Given the description of an element on the screen output the (x, y) to click on. 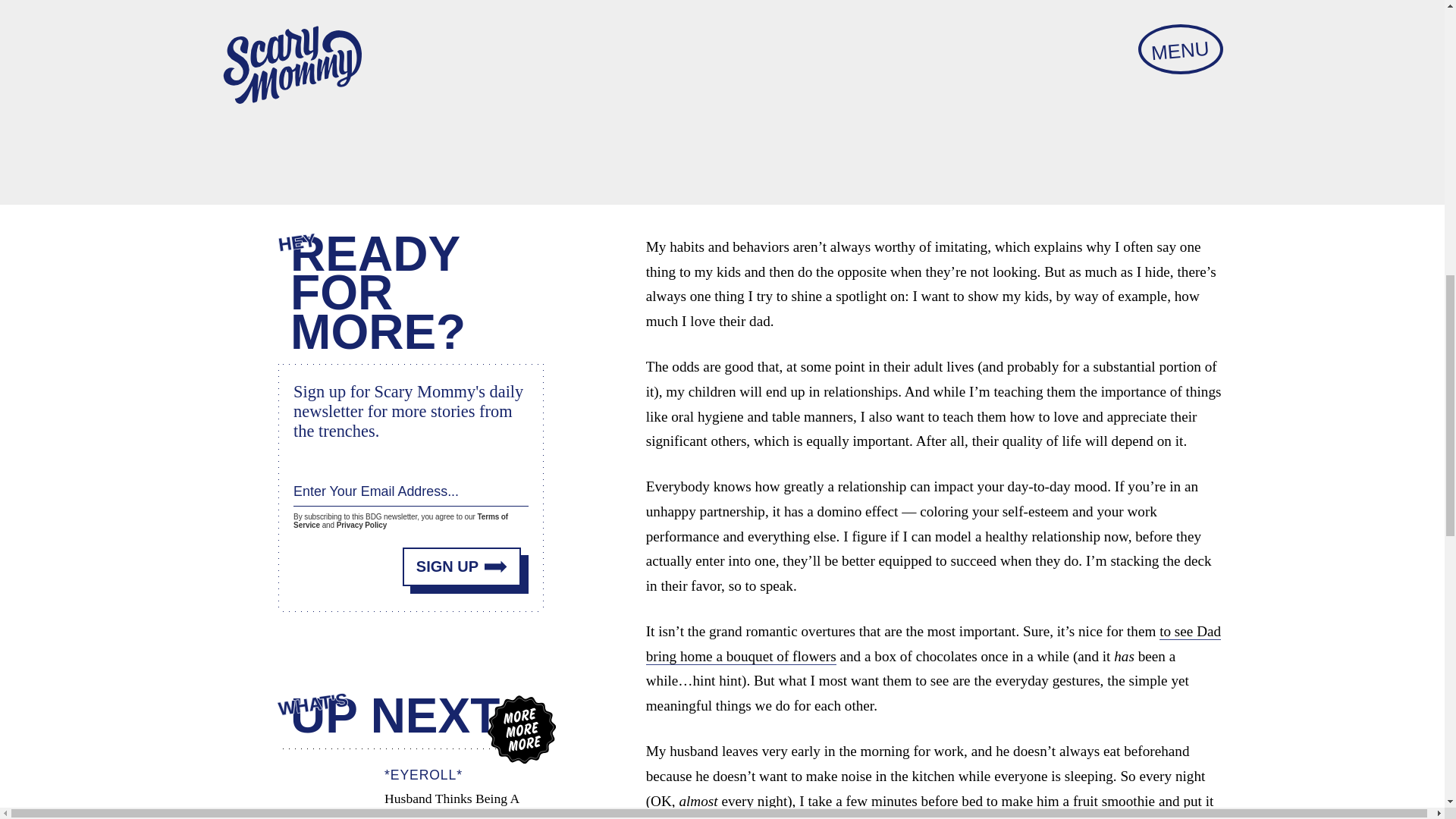
SIGN UP (462, 566)
to see Dad bring home a bouquet of flowers (933, 644)
Privacy Policy (361, 524)
Terms of Service (401, 520)
